Given the description of an element on the screen output the (x, y) to click on. 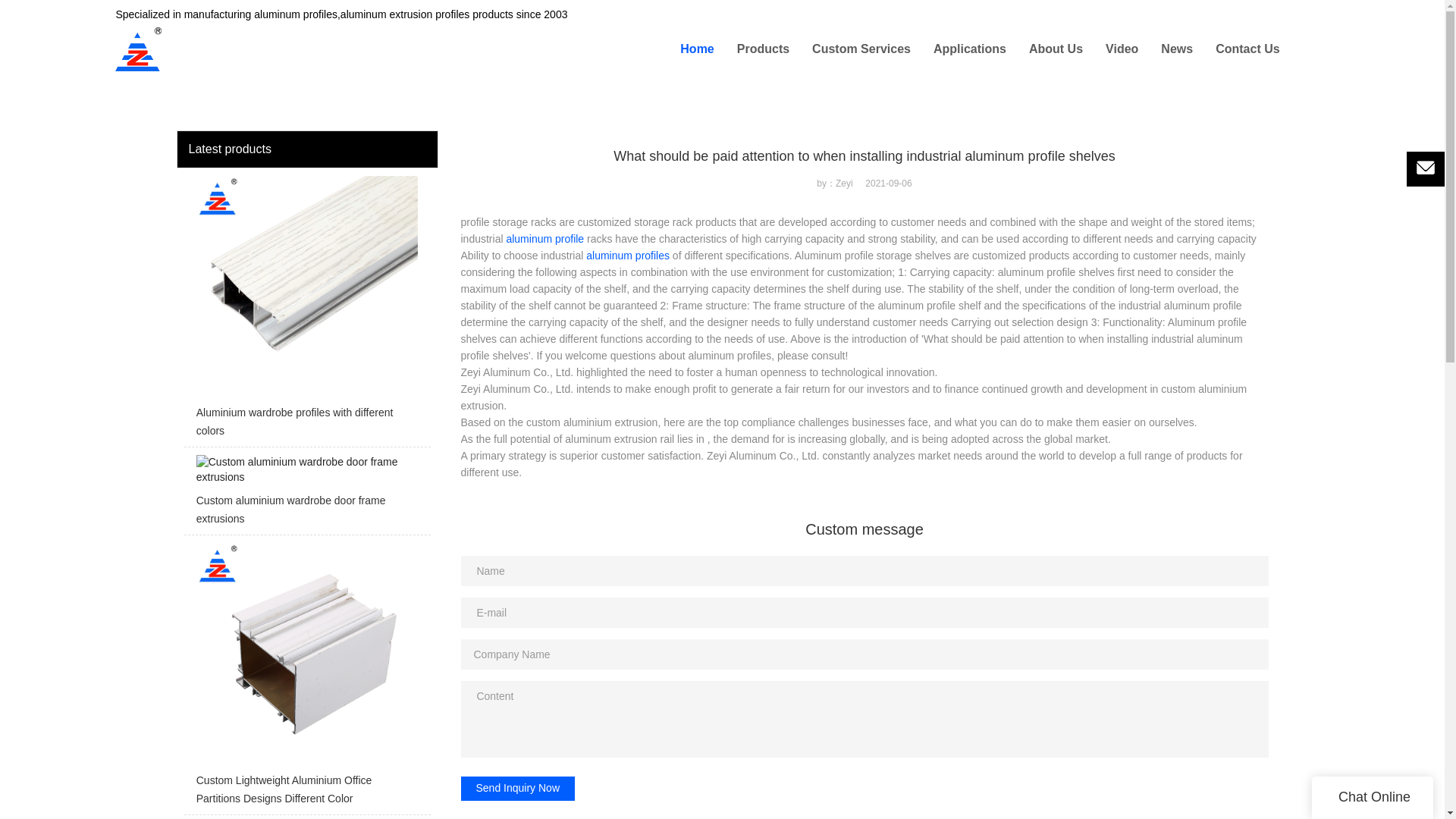
Aluminium wardrobe profiles with different colors (306, 311)
aluminum profiles (627, 255)
Products (762, 49)
Send Inquiry Now (518, 788)
Custom aluminium wardrobe door frame extrusions (306, 494)
Contact Us (1247, 49)
aluminum profile (544, 238)
About Us (1056, 49)
Custom Services (861, 49)
Applications (969, 49)
Zeyi (184, 13)
